Given the description of an element on the screen output the (x, y) to click on. 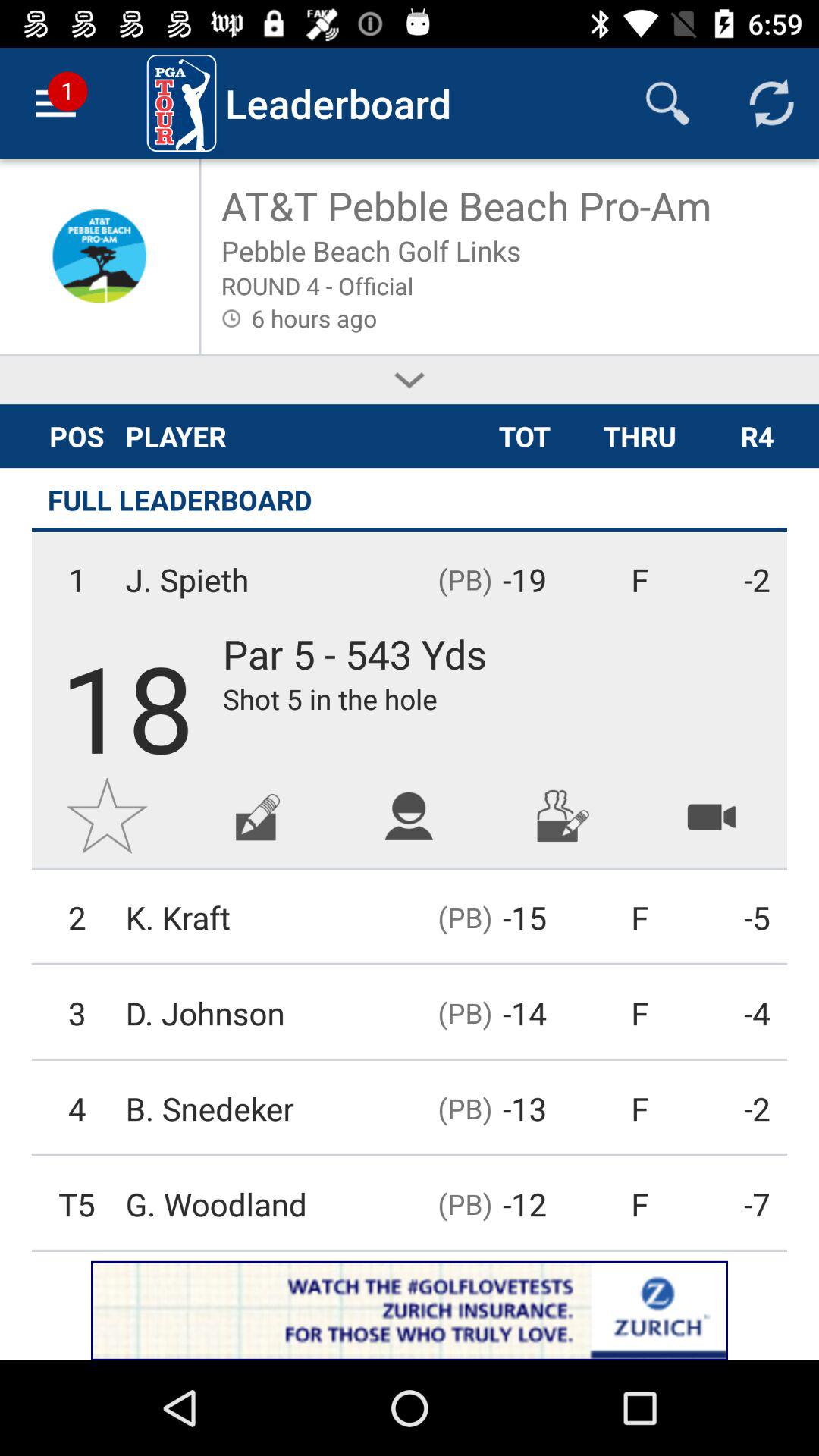
go to advertisement (257, 815)
